Given the description of an element on the screen output the (x, y) to click on. 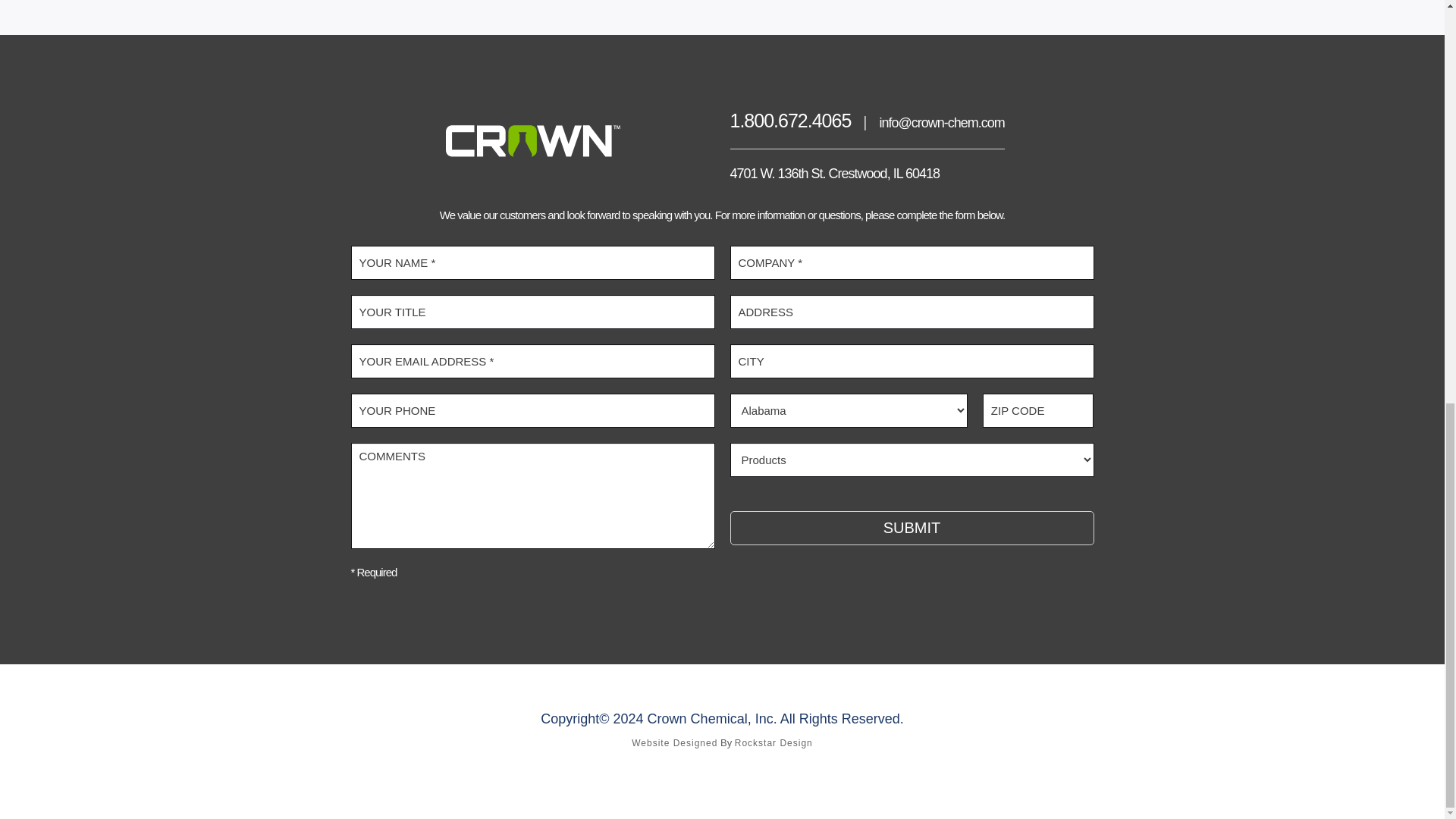
Rockstar Design Website Design (773, 742)
SUBMIT (911, 528)
Website Designed (674, 742)
